Given the description of an element on the screen output the (x, y) to click on. 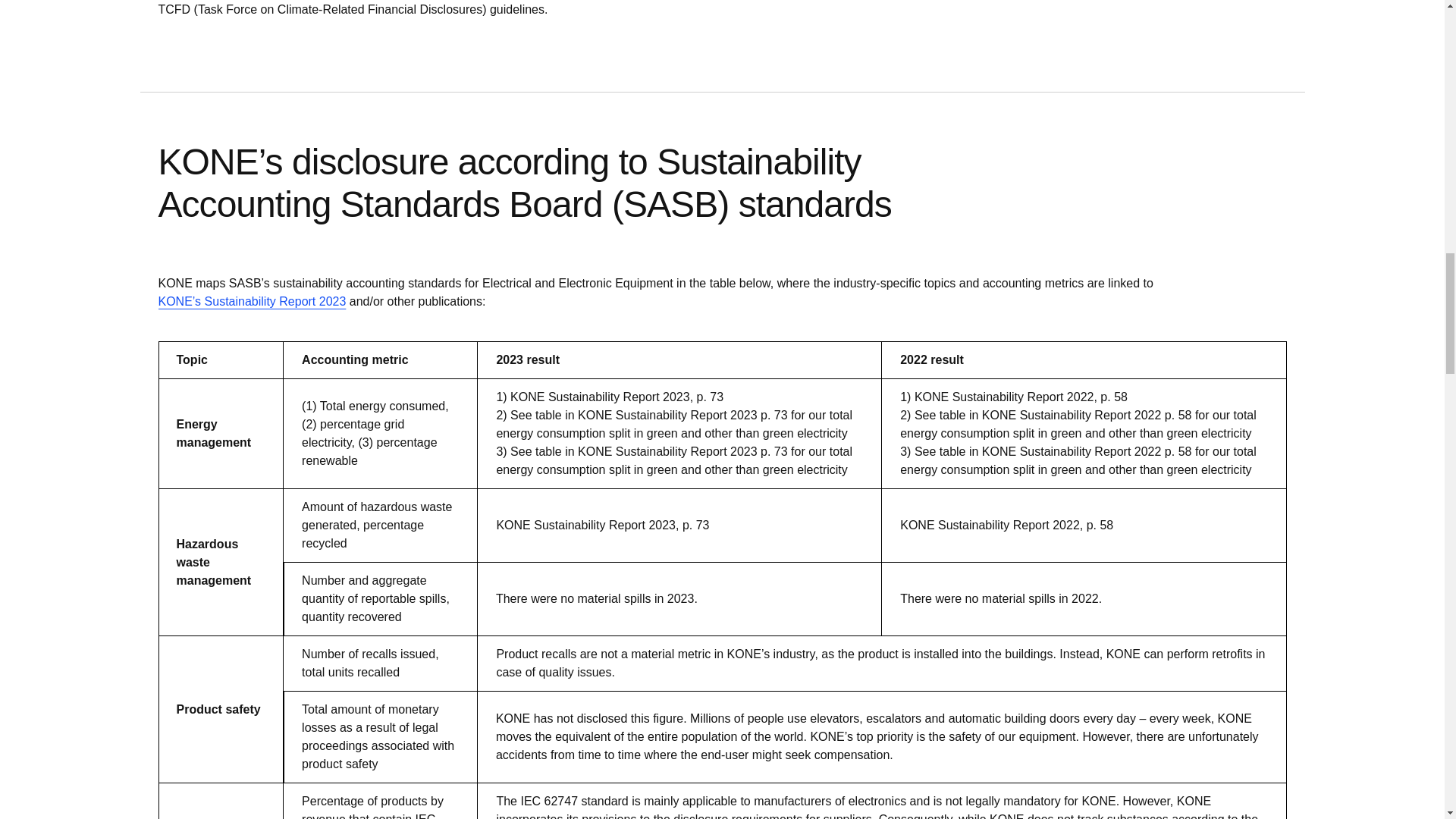
KONE 2023 Sustainability Report (251, 301)
